Given the description of an element on the screen output the (x, y) to click on. 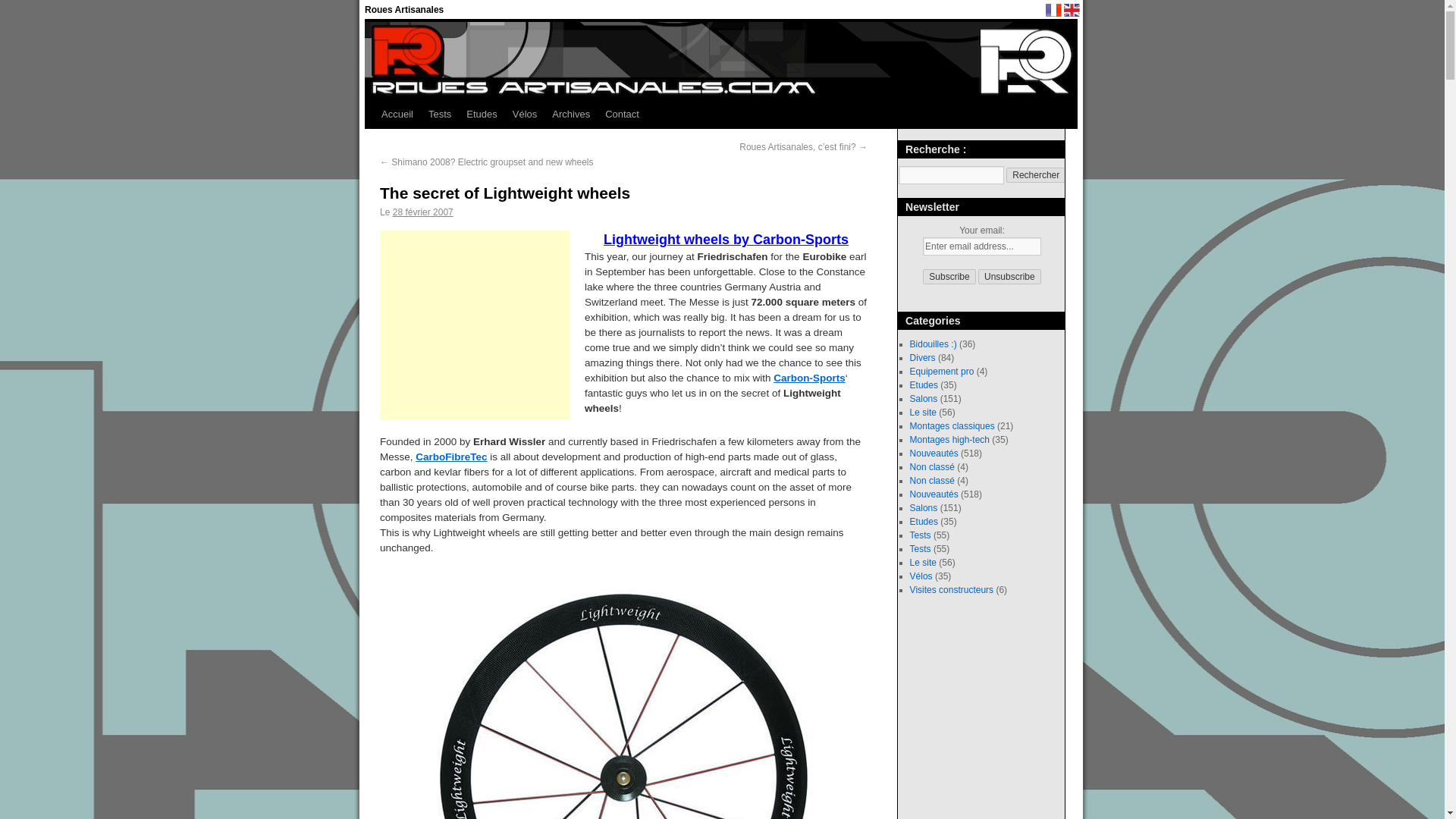
Roues Artisanales (404, 9)
Subscribe (949, 276)
CarboFibreTec (450, 456)
Accueil (397, 113)
Rechercher (1035, 174)
Tests (439, 113)
Carbon-Sports (809, 378)
Enter email address... (982, 246)
France (1053, 10)
Contact (621, 113)
Advertisement (474, 325)
Etudes (480, 113)
Roues Artisanales (404, 9)
Archives (570, 113)
Unsubscribe (1009, 276)
